Given the description of an element on the screen output the (x, y) to click on. 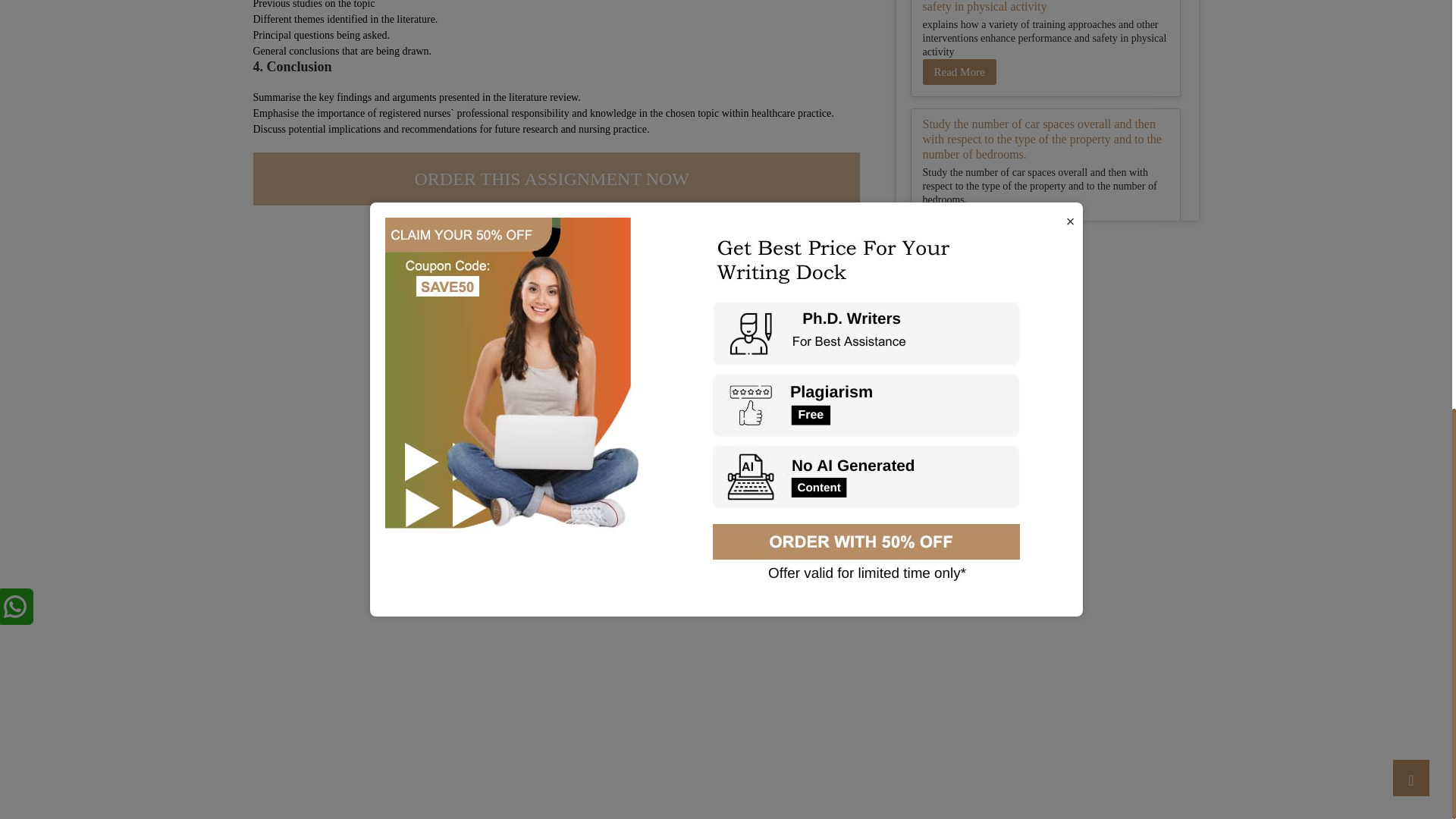
ORDER THIS ASSIGNMENT NOW   (556, 178)
